Given the description of an element on the screen output the (x, y) to click on. 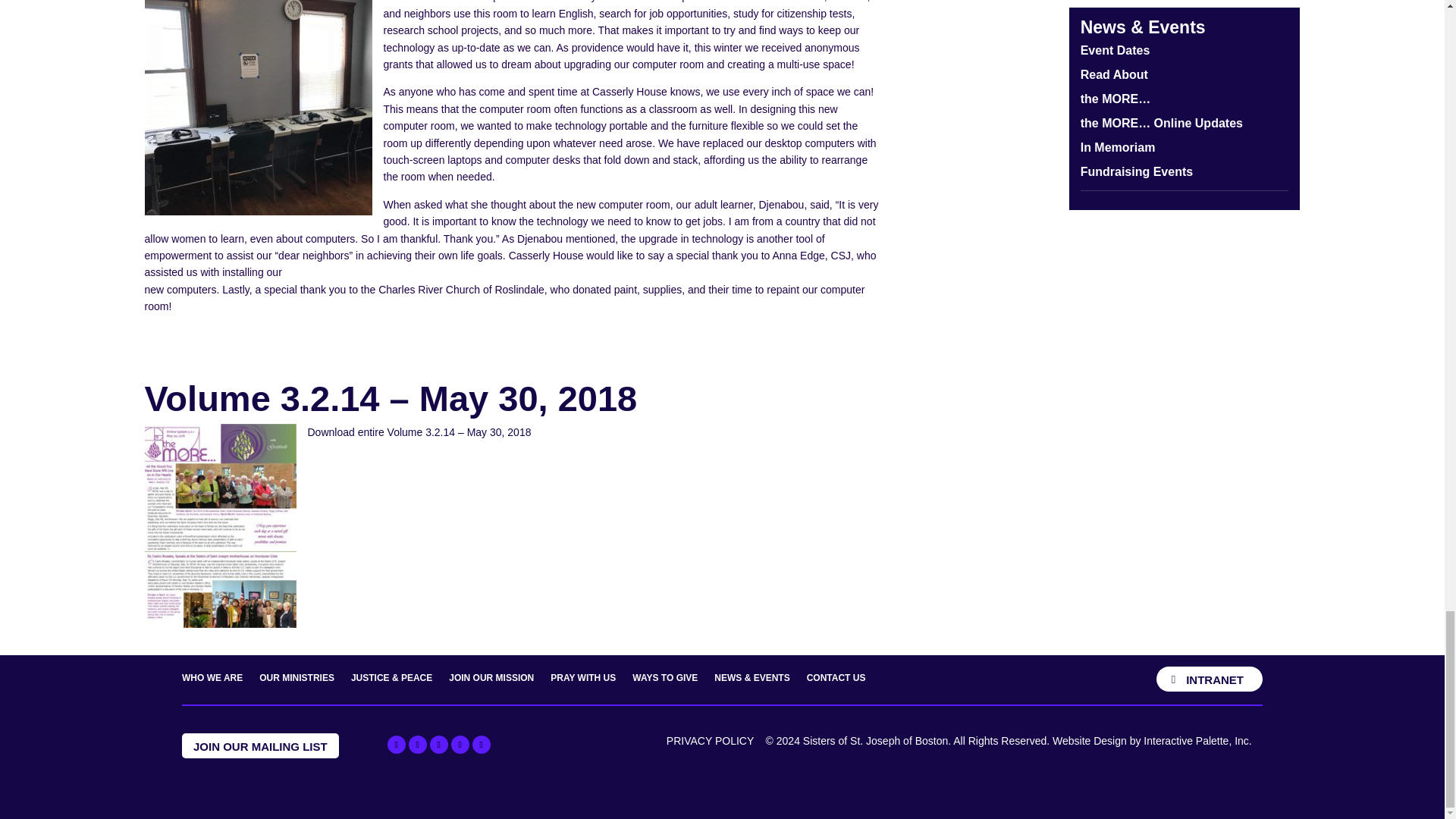
Follow on LinkedIn (480, 744)
Follow on X (417, 744)
Follow on Facebook (396, 744)
Follow on Instagram (459, 744)
Follow on Youtube (438, 744)
